Given the description of an element on the screen output the (x, y) to click on. 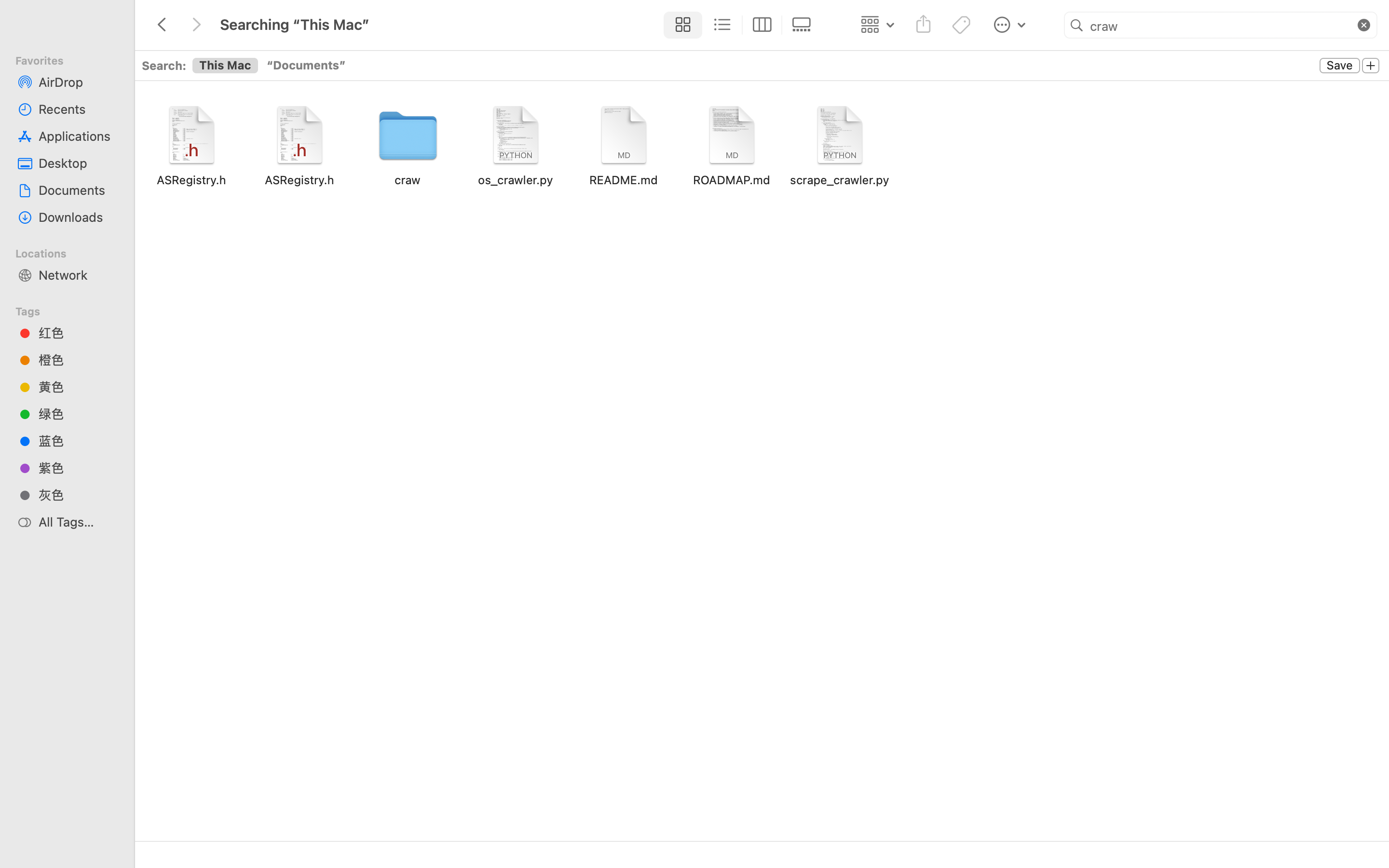
Tags… Element type: AXStaticText (20, 860)
Applications Element type: AXStaticText (77, 135)
Downloads Element type: AXStaticText (77, 216)
绿色 Element type: AXStaticText (77, 413)
Search: Element type: AXStaticText (163, 64)
